Given the description of an element on the screen output the (x, y) to click on. 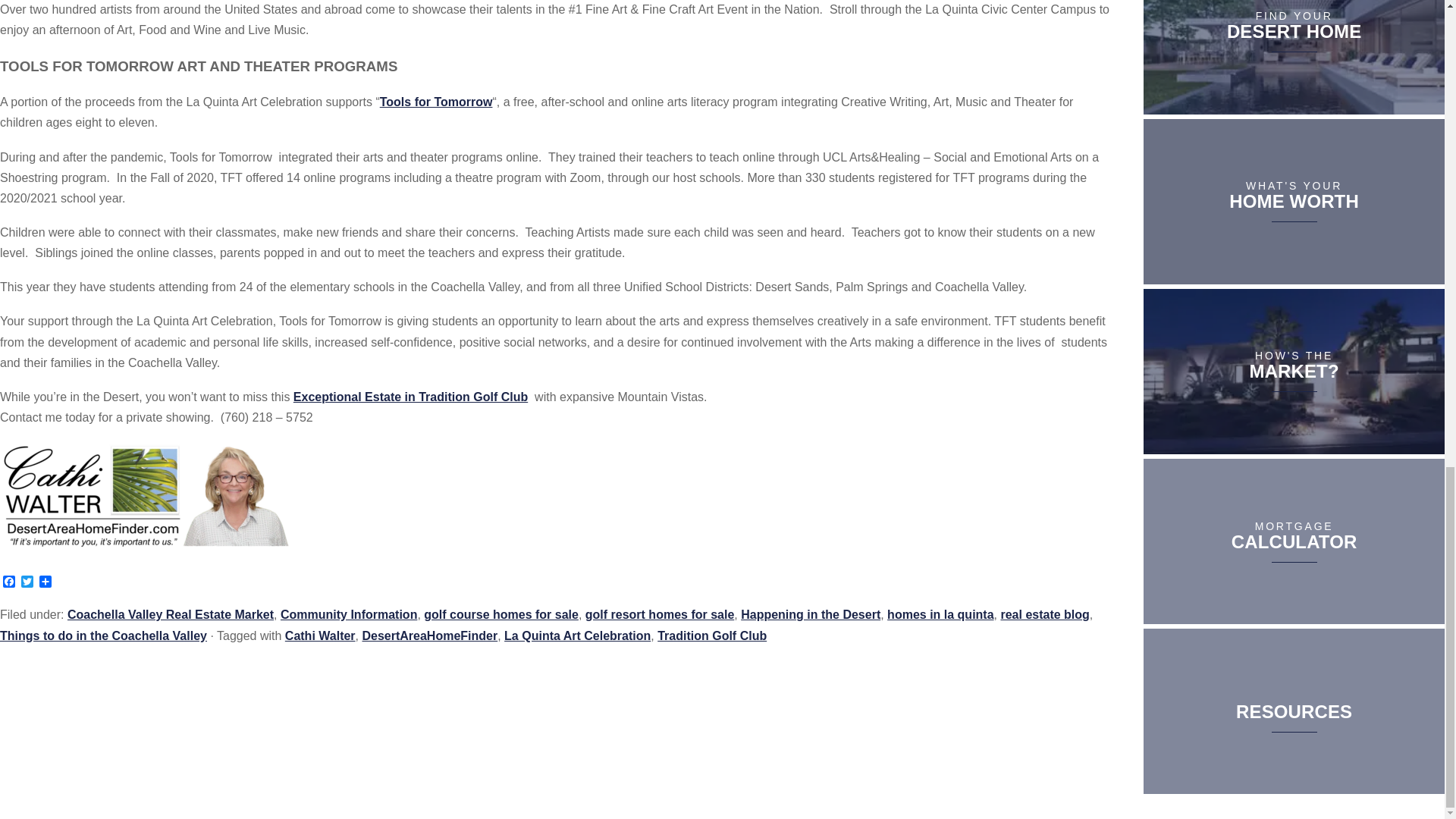
Facebook (8, 582)
Twitter (26, 582)
